Given the description of an element on the screen output the (x, y) to click on. 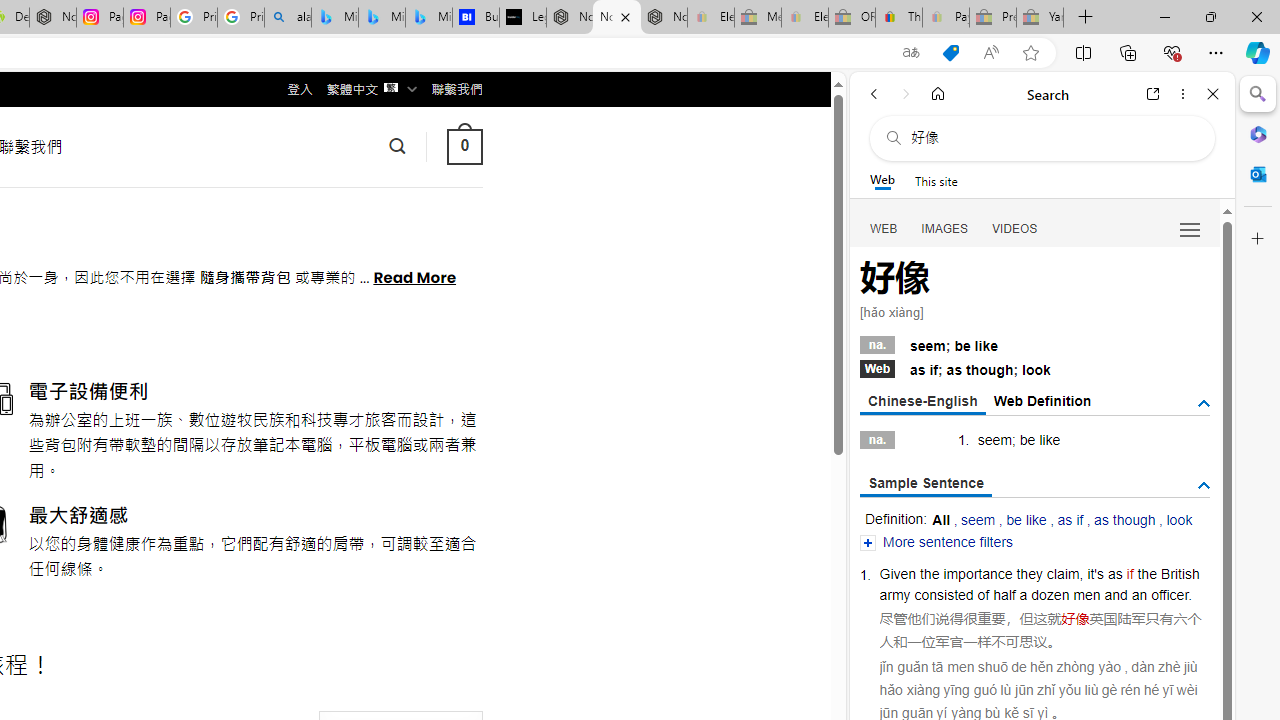
Search Filter, VIDEOS (1015, 228)
Preferences (1189, 228)
they (1029, 573)
as if (1070, 520)
AutomationID: tgdef_sen (1203, 485)
This site has coupons! Shopping in Microsoft Edge (950, 53)
alabama high school quarterback dies - Search (288, 17)
WEB (884, 228)
